Given the description of an element on the screen output the (x, y) to click on. 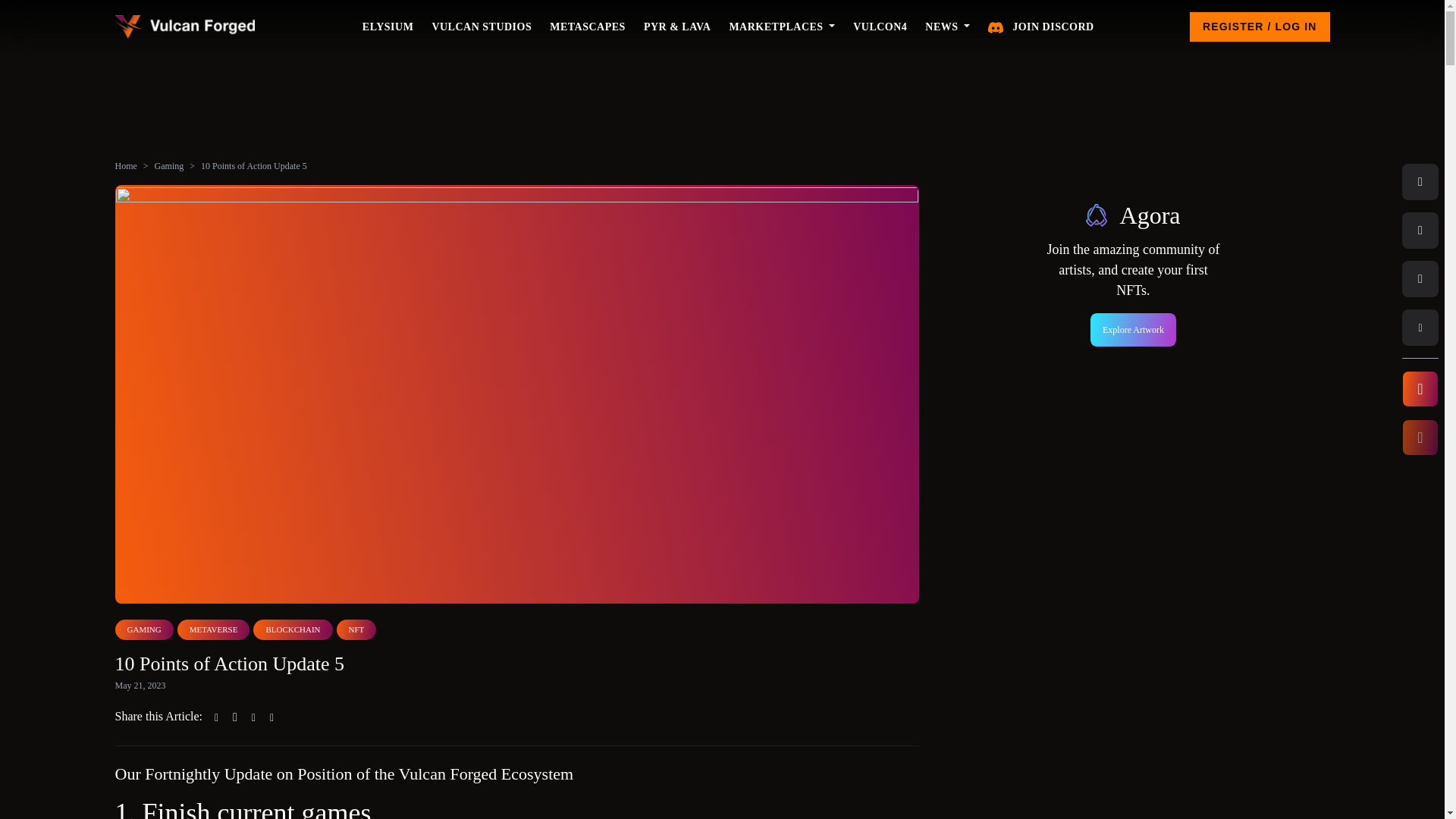
JOIN DISCORD (1040, 26)
Gaming (169, 165)
VULCAN STUDIOS (481, 26)
NEWS (946, 26)
MARKETPLACES (781, 26)
Home (125, 165)
ELYSIUM (388, 26)
METASCAPES (587, 26)
VULCON4 (879, 26)
